Given the description of an element on the screen output the (x, y) to click on. 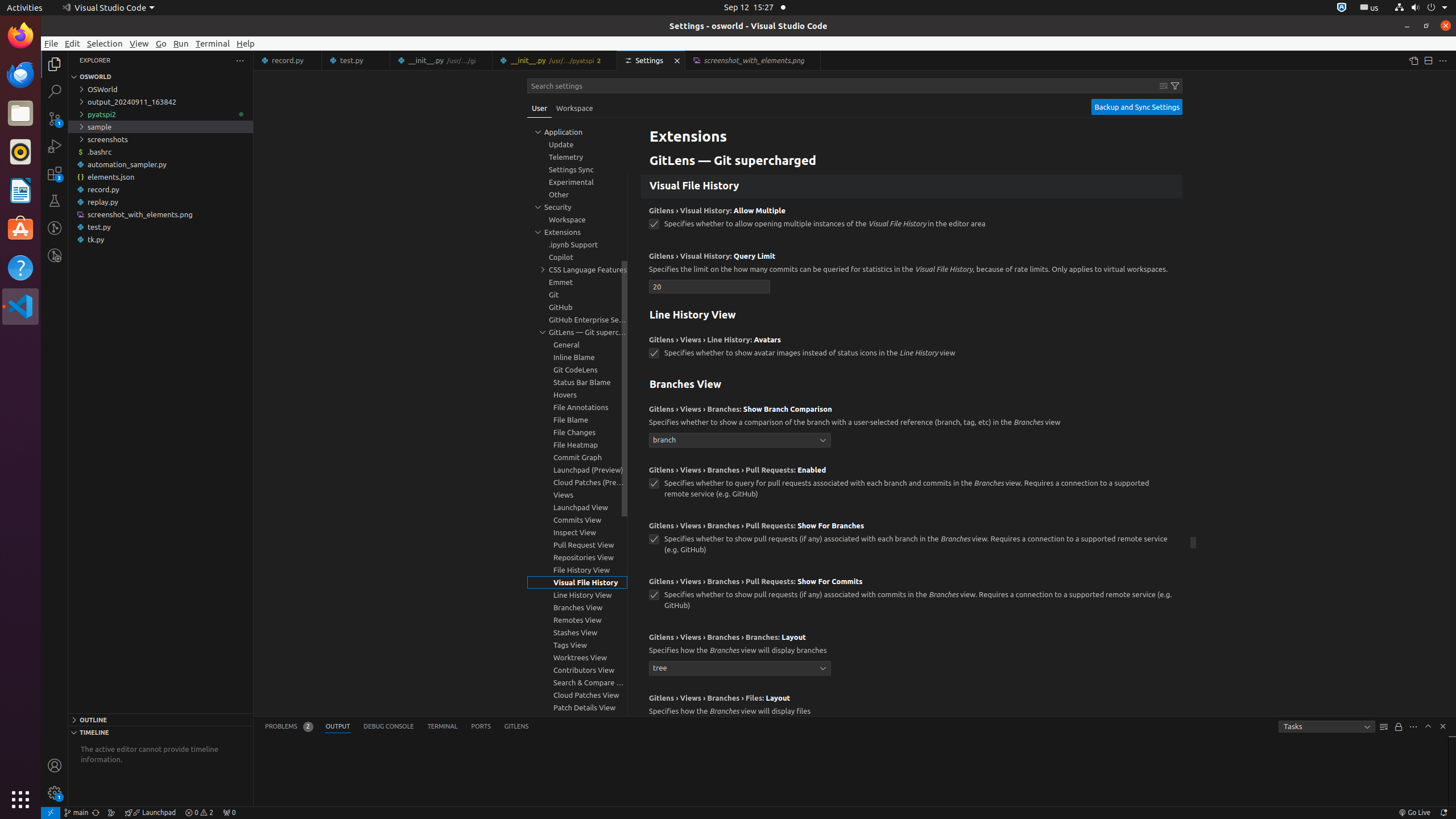
Extensions, group Element type: tree-item (577, 231)
Remotes View, group Element type: tree-item (577, 619)
test.py Element type: page-tab (355, 60)
Gitlens › Views › Branches › Pull Requests Show For Commits. Specifies whether to show pull requests (if any) associated with commits in the Branches view. Requires a connection to a supported remote service (e.g. GitHub)  Element type: tree-item (911, 597)
